Given the description of an element on the screen output the (x, y) to click on. 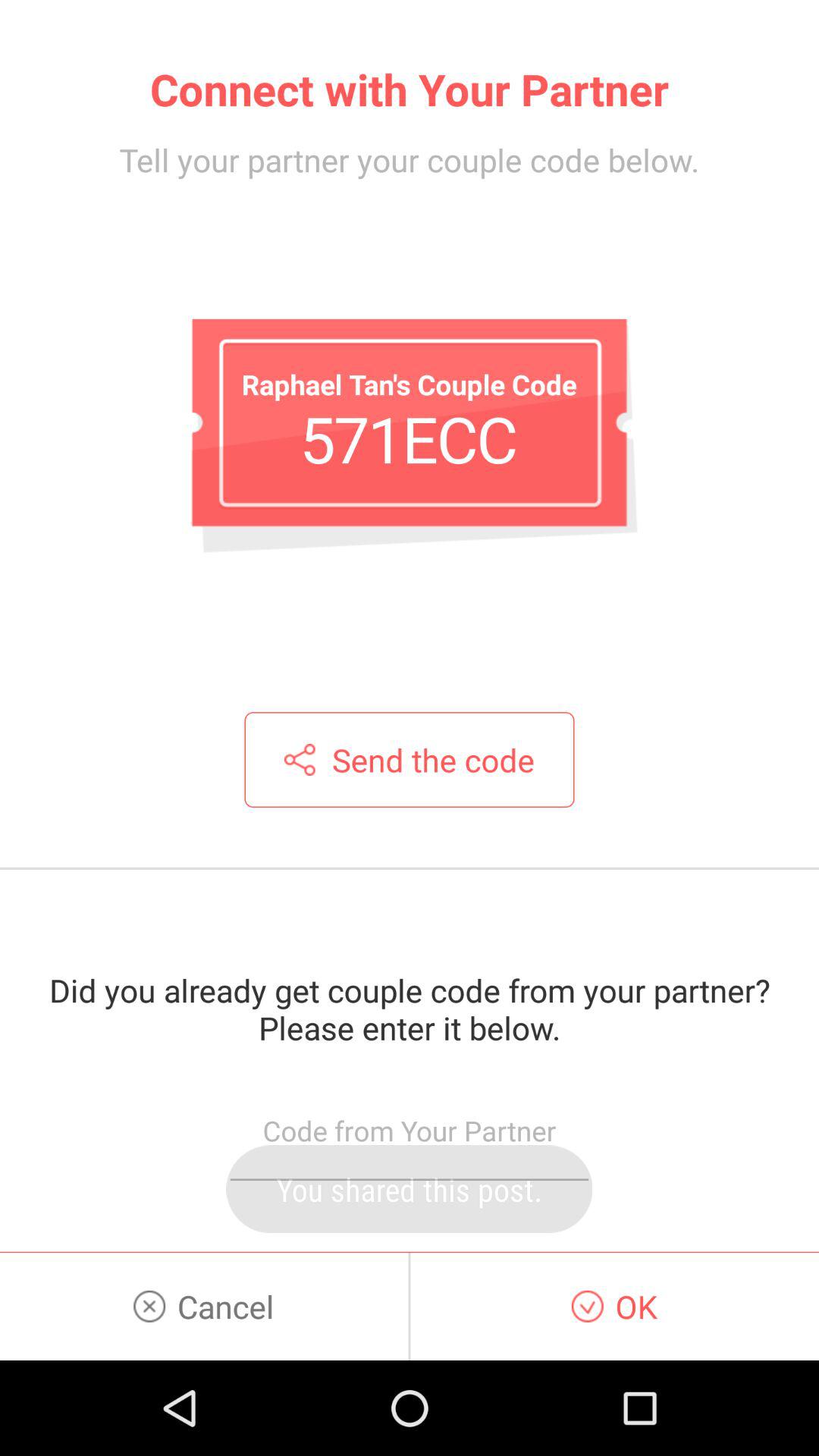
open item above the send the code item (409, 438)
